Given the description of an element on the screen output the (x, y) to click on. 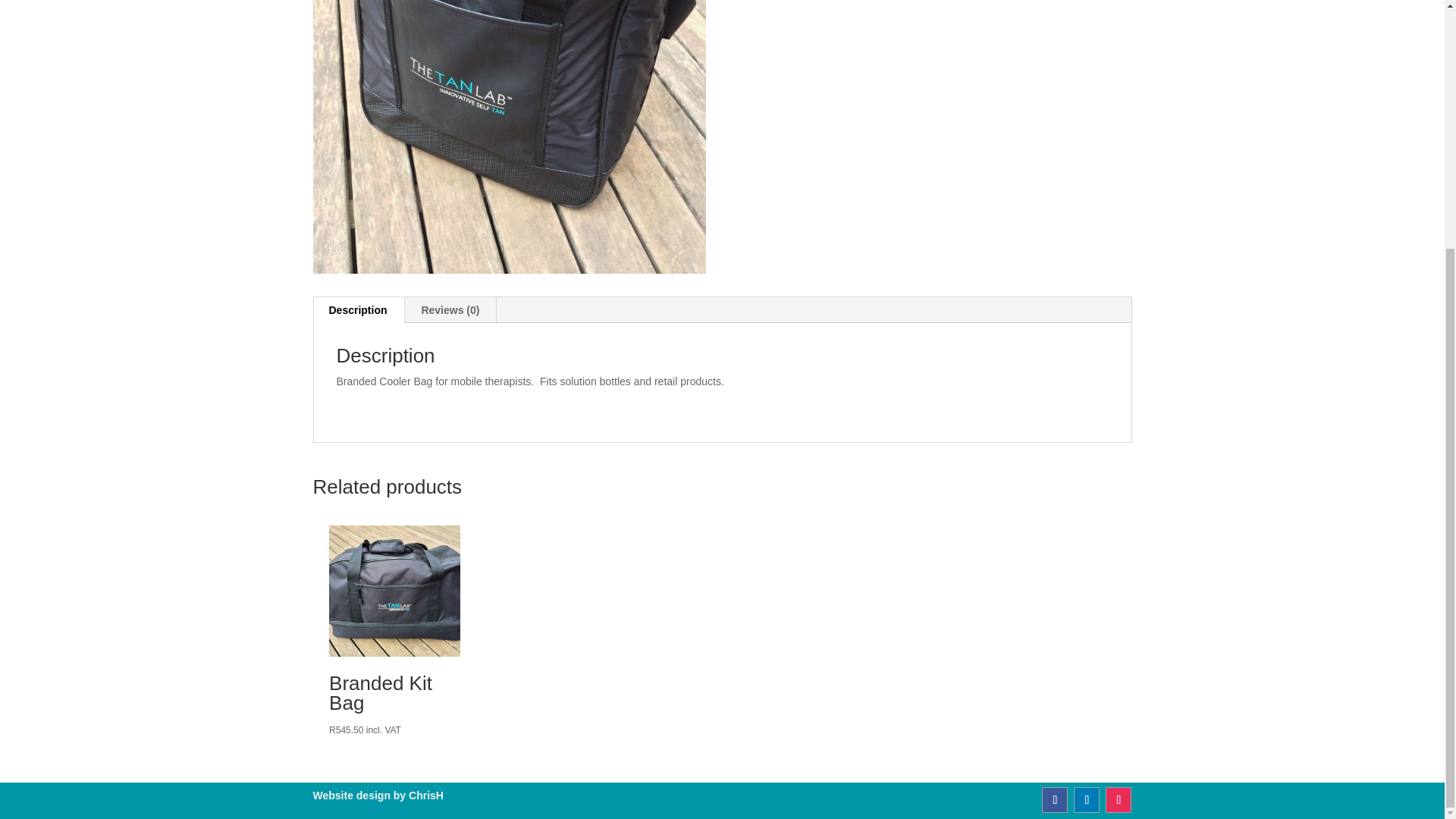
Follow on Facebook (1054, 800)
Follow on Instagram (1118, 800)
Follow on LinkedIn (1086, 800)
